Given the description of an element on the screen output the (x, y) to click on. 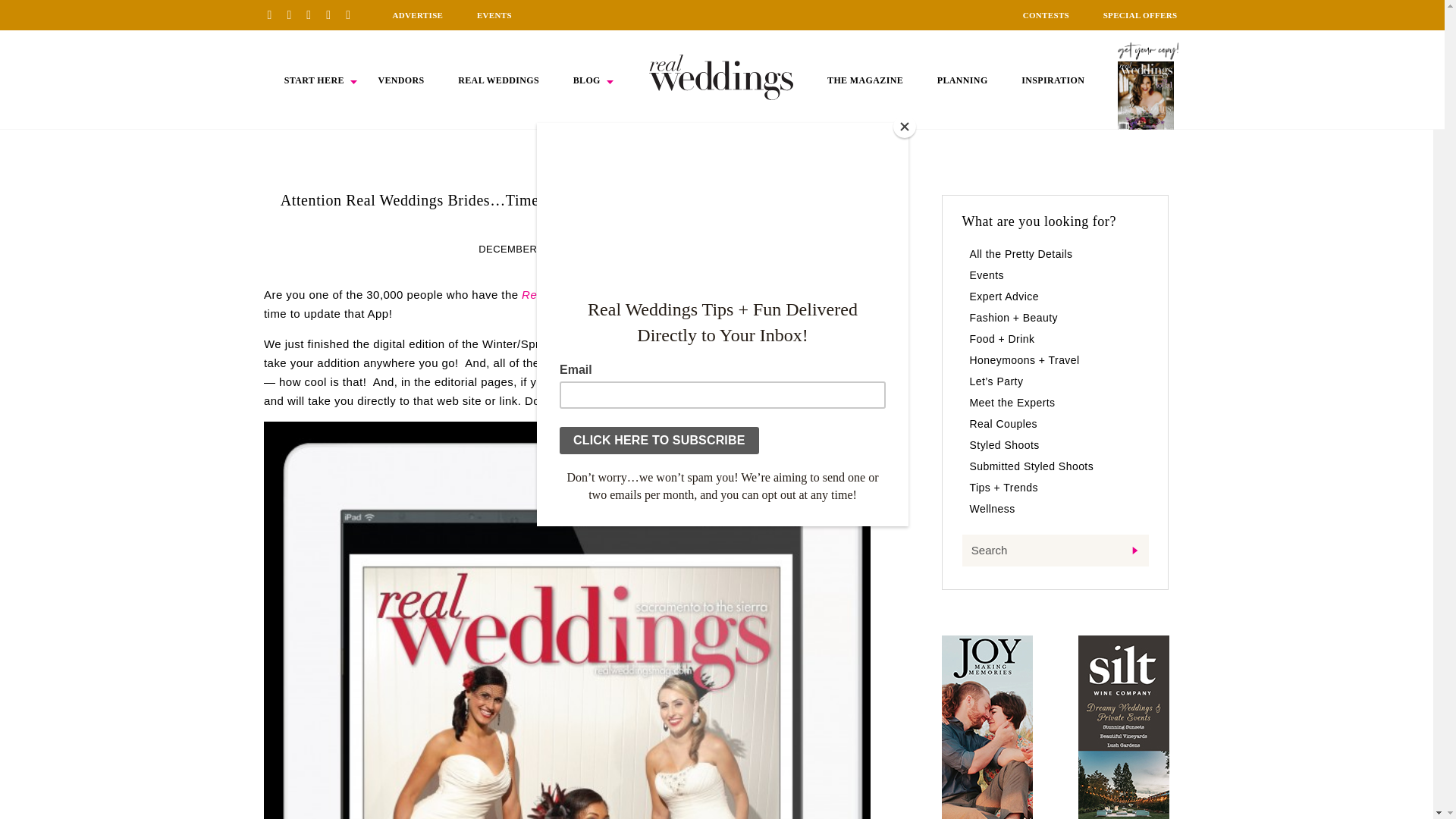
START HERE (313, 80)
ADVERTISE (416, 14)
Search (1054, 550)
Search (1054, 550)
LET'S PARTY (623, 248)
Facebook (294, 14)
Pinterest (274, 14)
PLANNING (962, 80)
INSPIRATION (1053, 80)
EVENTS (494, 14)
HOME (721, 76)
CONTESTS (1045, 14)
YouTube (353, 14)
BLOG (586, 80)
Real Weddings (561, 294)
